Given the description of an element on the screen output the (x, y) to click on. 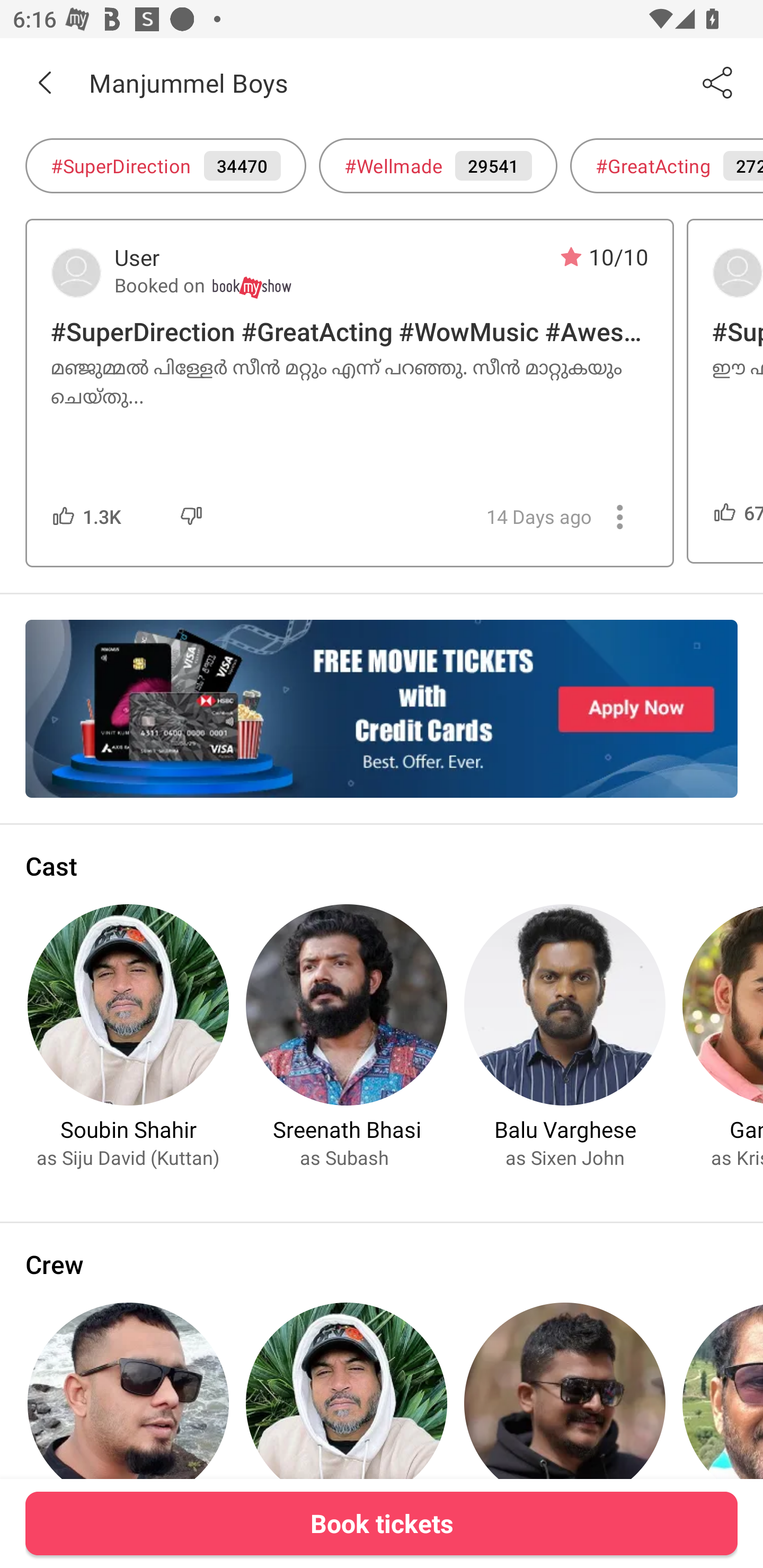
Back (44, 82)
Share (718, 82)
#SuperDirection 34470 (165, 164)
#Wellmade 29541 (437, 164)
#GreatActing 27264 (666, 164)
674 (737, 511)
1.3K (102, 516)
Soubin Shahir as Siju David (Kuttan) (128, 1035)
Sreenath Bhasi as Subash  (346, 1035)
Balu Varghese as Sixen John (564, 1035)
Book tickets (381, 1523)
